Given the description of an element on the screen output the (x, y) to click on. 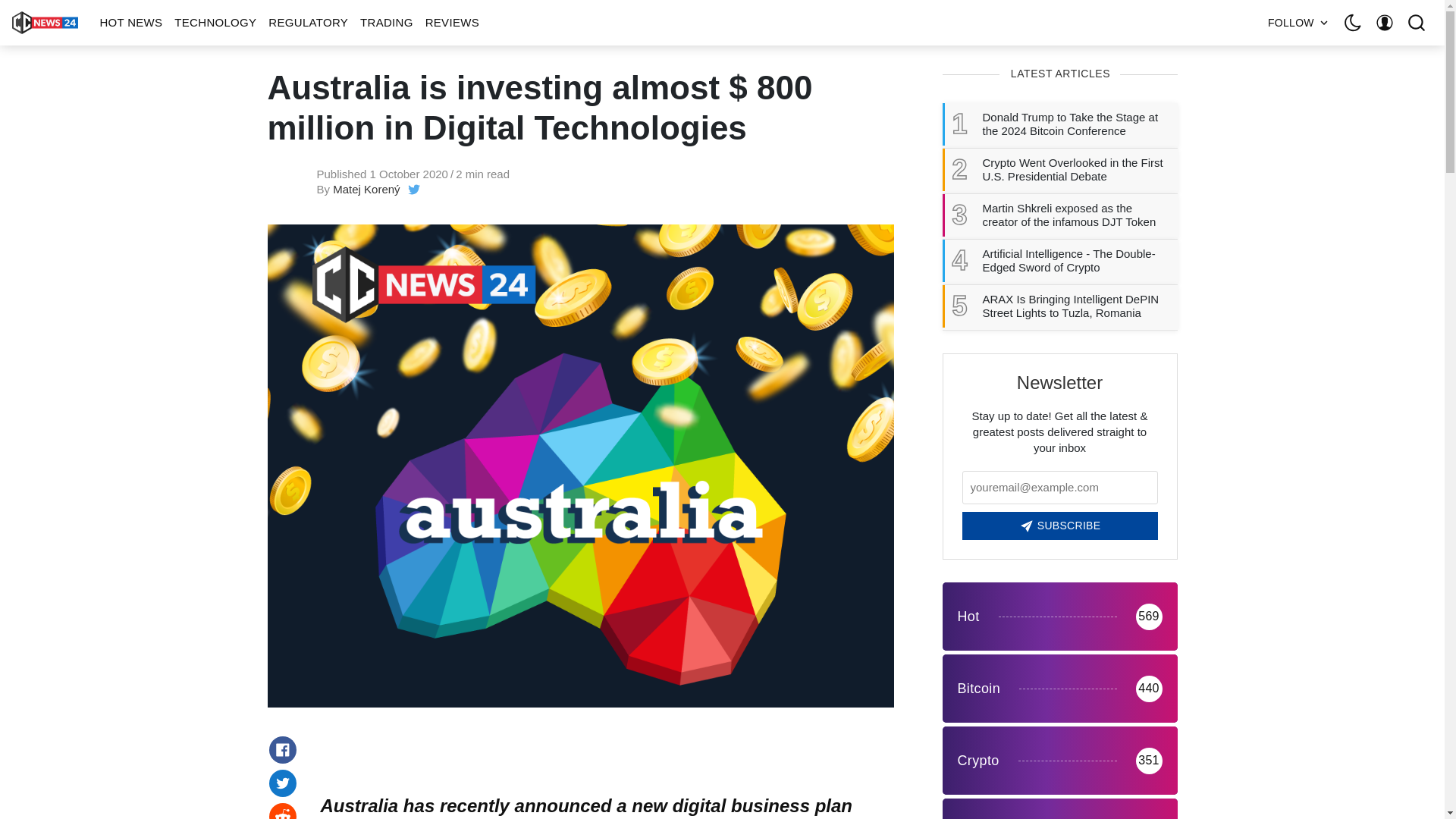
HOT NEWS (130, 22)
hot (1059, 616)
bitcoin (1059, 688)
REVIEWS (451, 22)
TECHNOLOGY (215, 22)
REGULATORY (307, 22)
TRADING (386, 22)
